Given the description of an element on the screen output the (x, y) to click on. 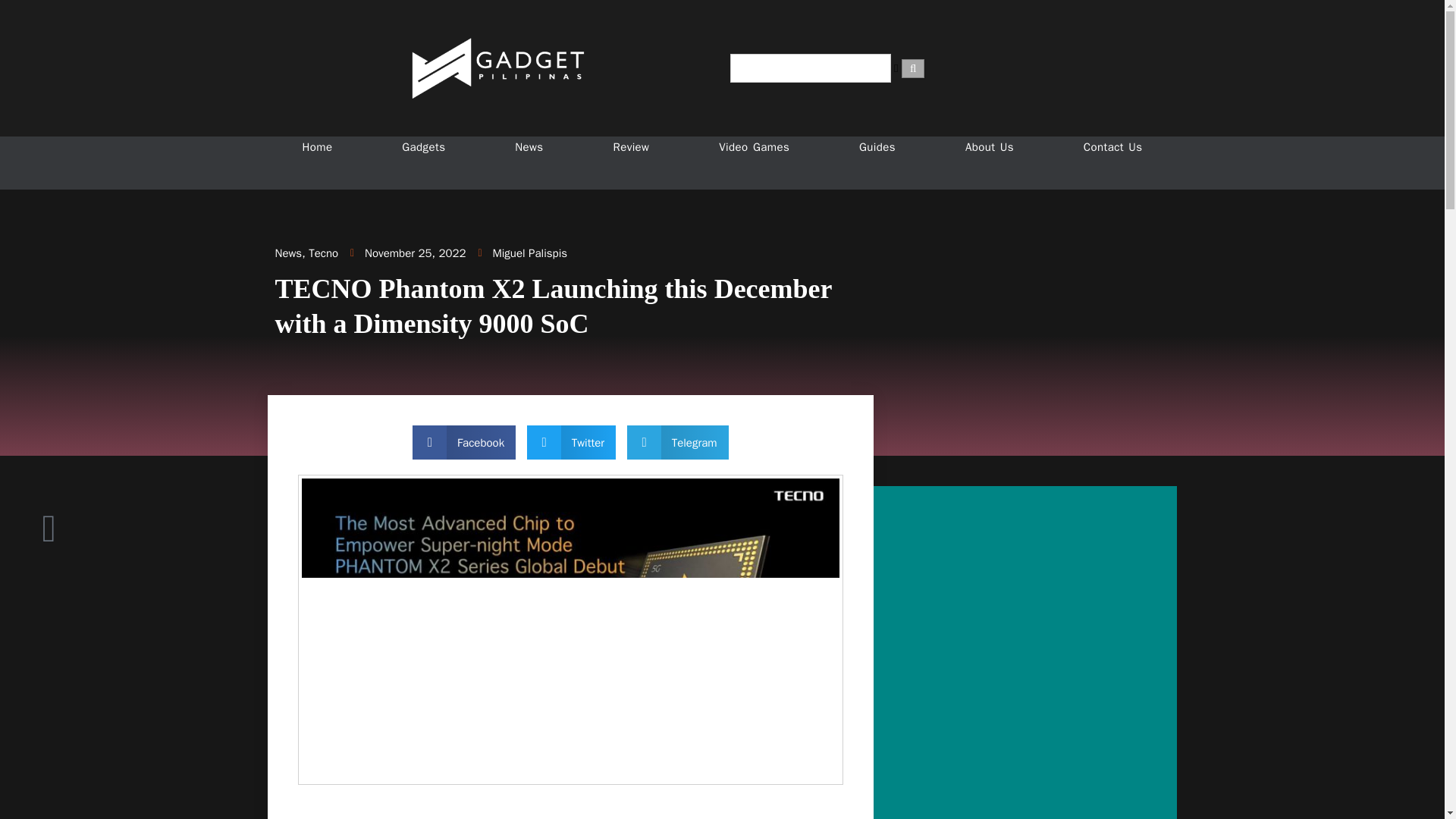
News (529, 147)
Gadgets (423, 147)
News (288, 252)
Home (316, 147)
November 25, 2022 (407, 252)
Tecno (322, 252)
About Us (989, 147)
Video Games (754, 147)
Review (631, 147)
Contact Us (1112, 147)
